Given the description of an element on the screen output the (x, y) to click on. 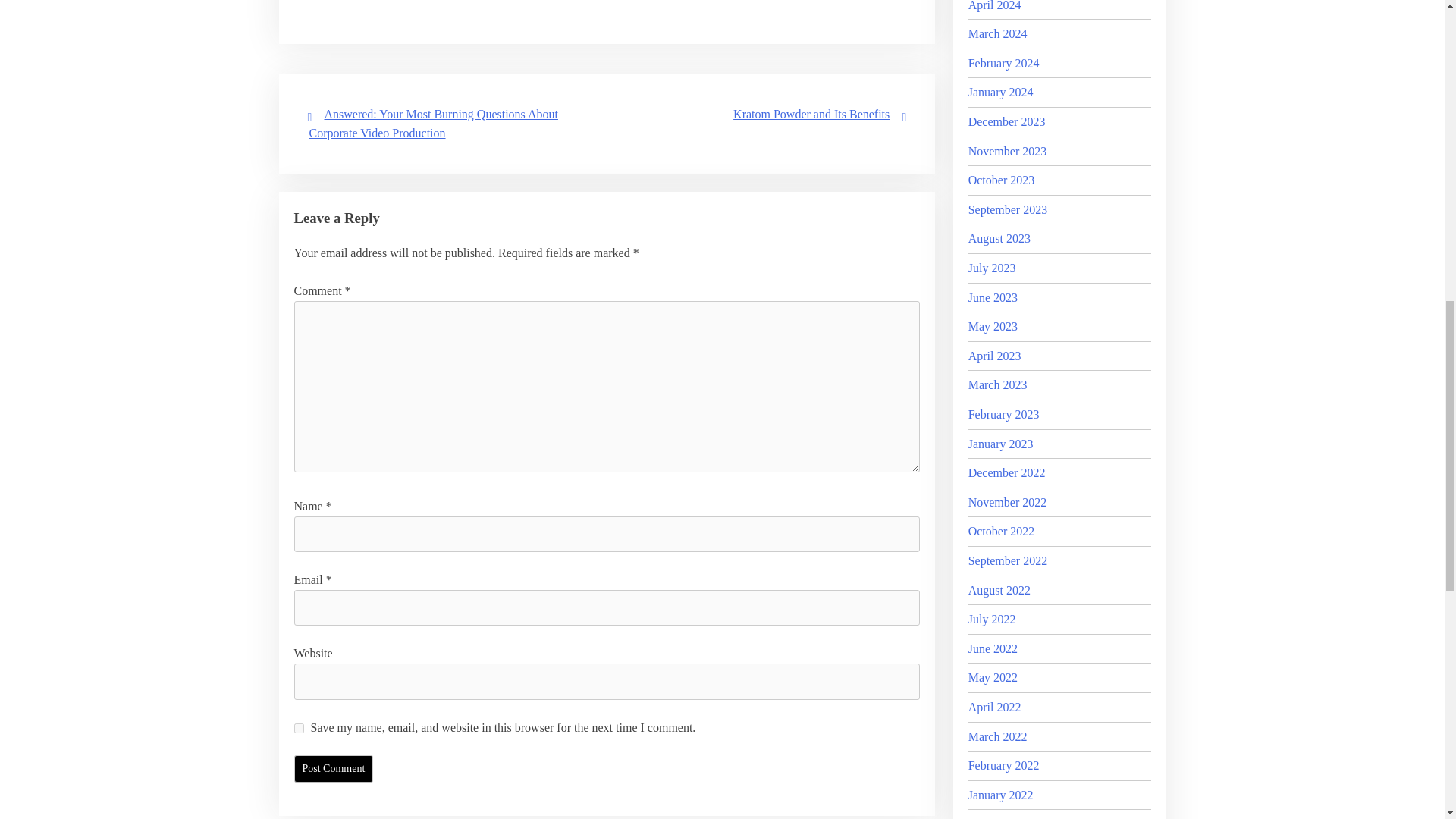
Post Comment (334, 768)
Post Comment (334, 768)
yes (299, 728)
March 2024 (997, 33)
Kratom Powder and Its Benefits (811, 113)
February 2024 (1003, 62)
January 2024 (1000, 91)
November 2023 (1007, 151)
December 2023 (1006, 121)
April 2024 (995, 5)
